Given the description of an element on the screen output the (x, y) to click on. 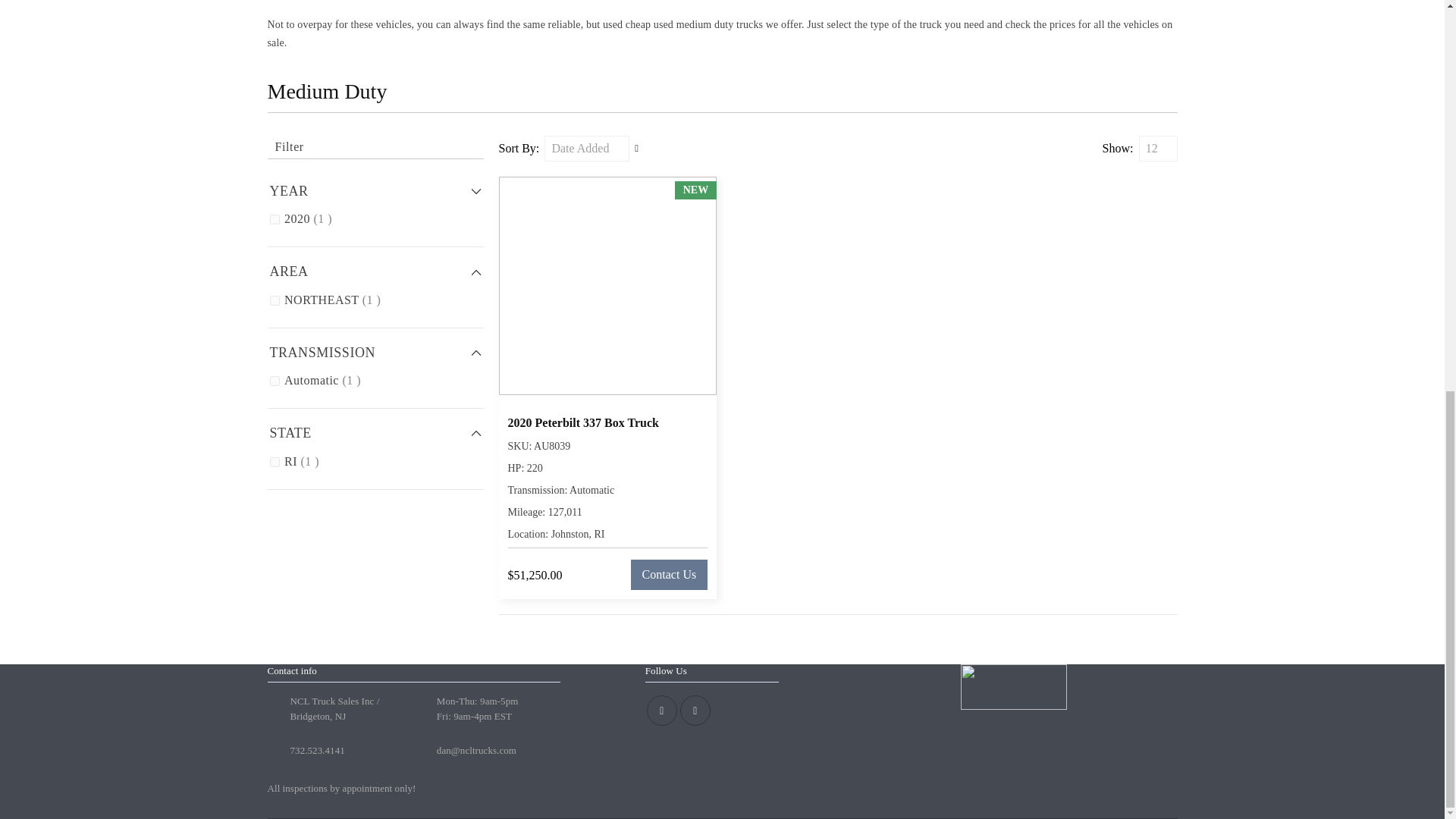
on (274, 300)
on (274, 461)
on (274, 380)
on (274, 219)
